Given the description of an element on the screen output the (x, y) to click on. 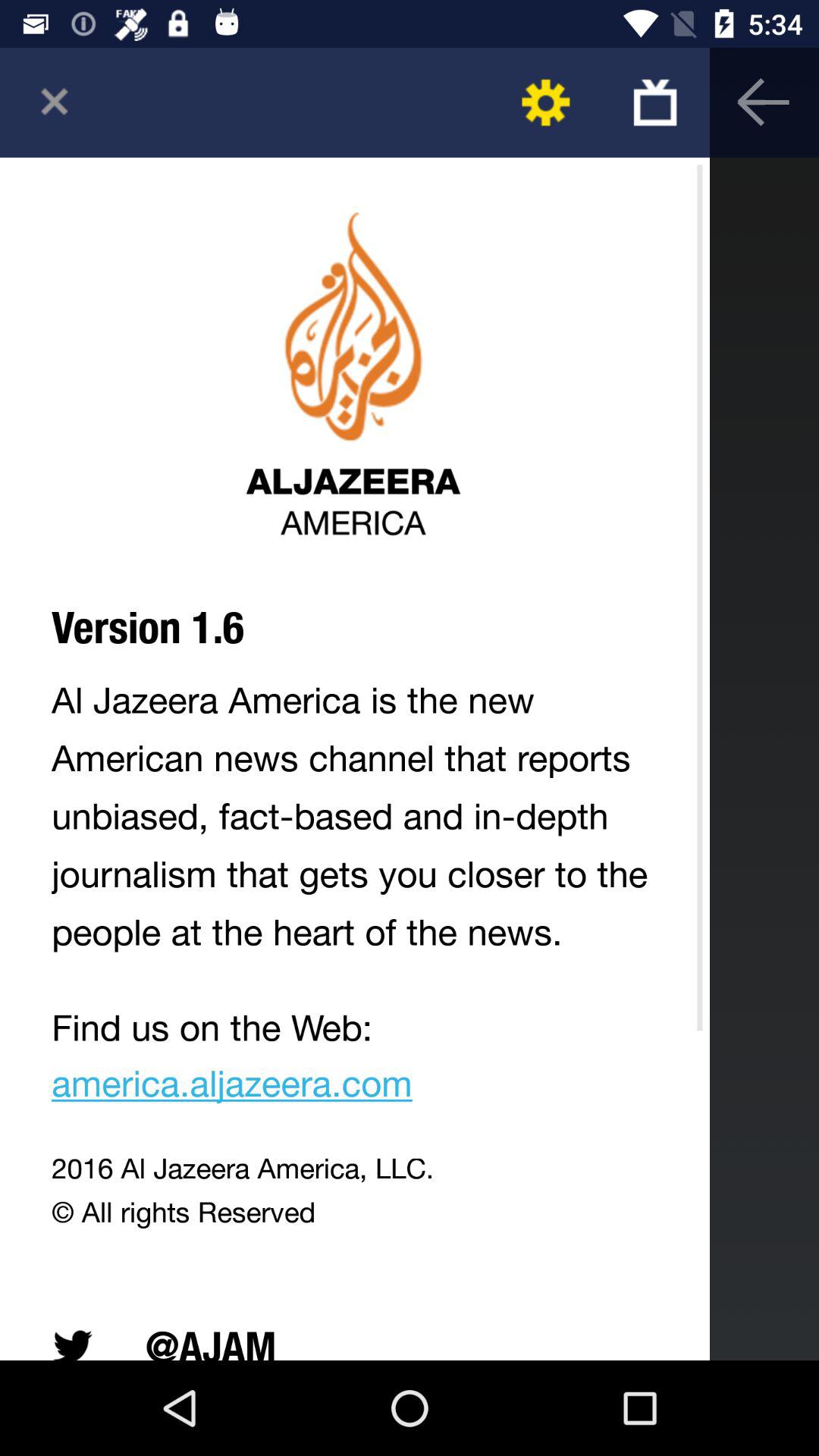
select app above al jazeera america app (654, 102)
